Given the description of an element on the screen output the (x, y) to click on. 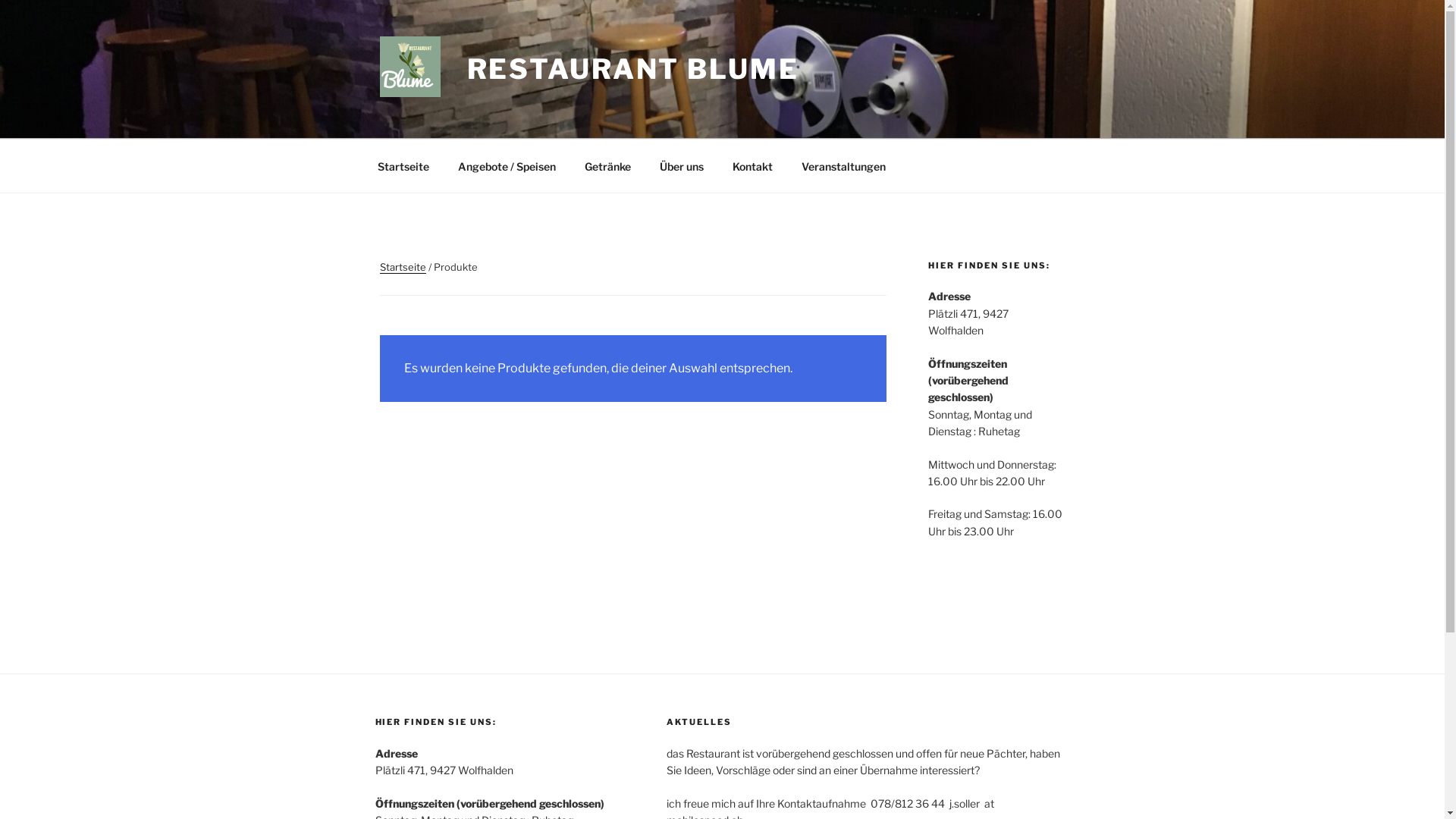
RESTAURANT BLUME Element type: text (633, 68)
Veranstaltungen Element type: text (843, 165)
Startseite Element type: text (402, 266)
Angebote / Speisen Element type: text (506, 165)
Startseite Element type: text (403, 165)
Kontakt Element type: text (751, 165)
